Given the description of an element on the screen output the (x, y) to click on. 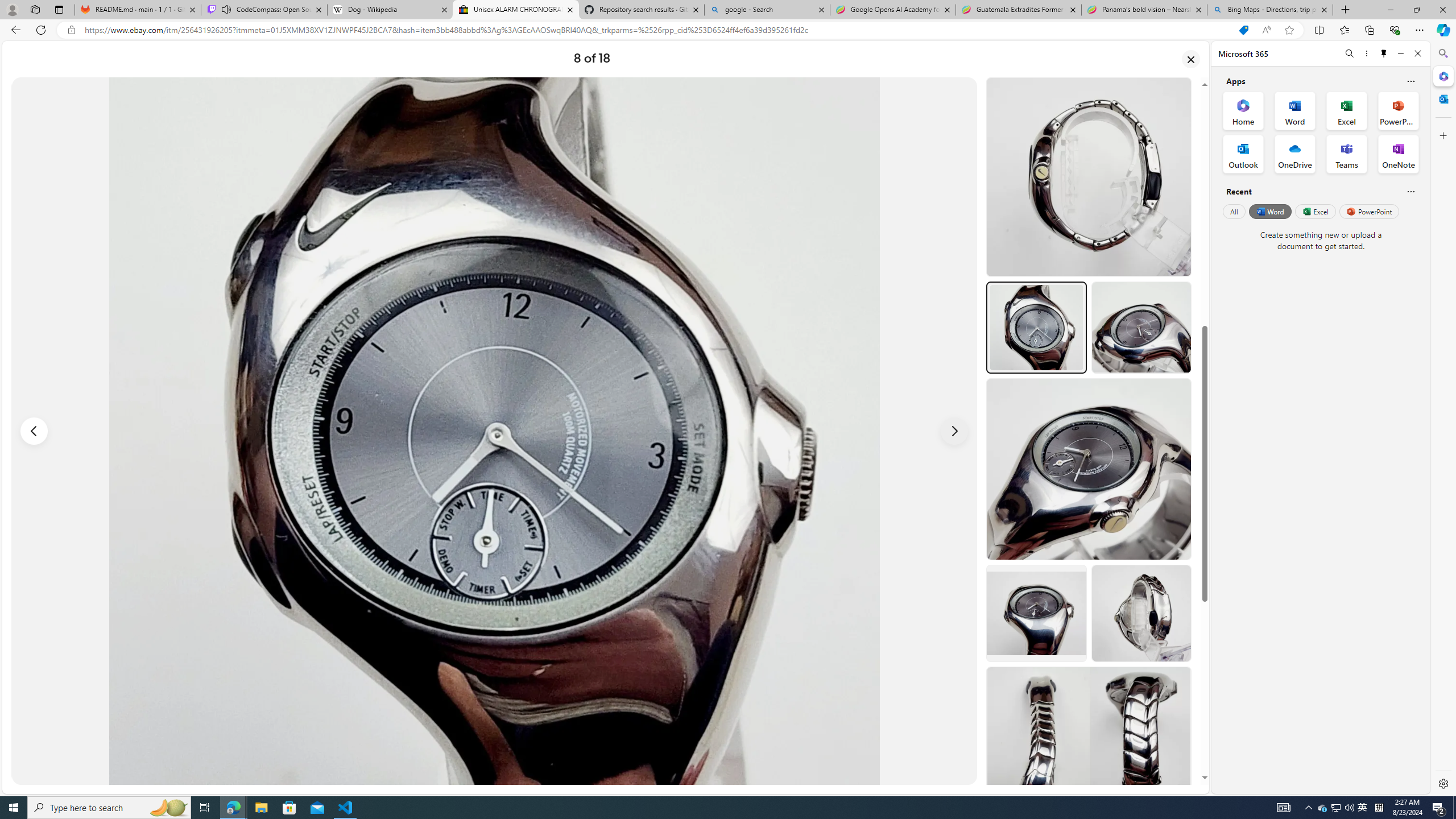
PowerPoint (1369, 210)
Excel Office App (1346, 110)
Previous image - Item images thumbnails (34, 430)
